Given the description of an element on the screen output the (x, y) to click on. 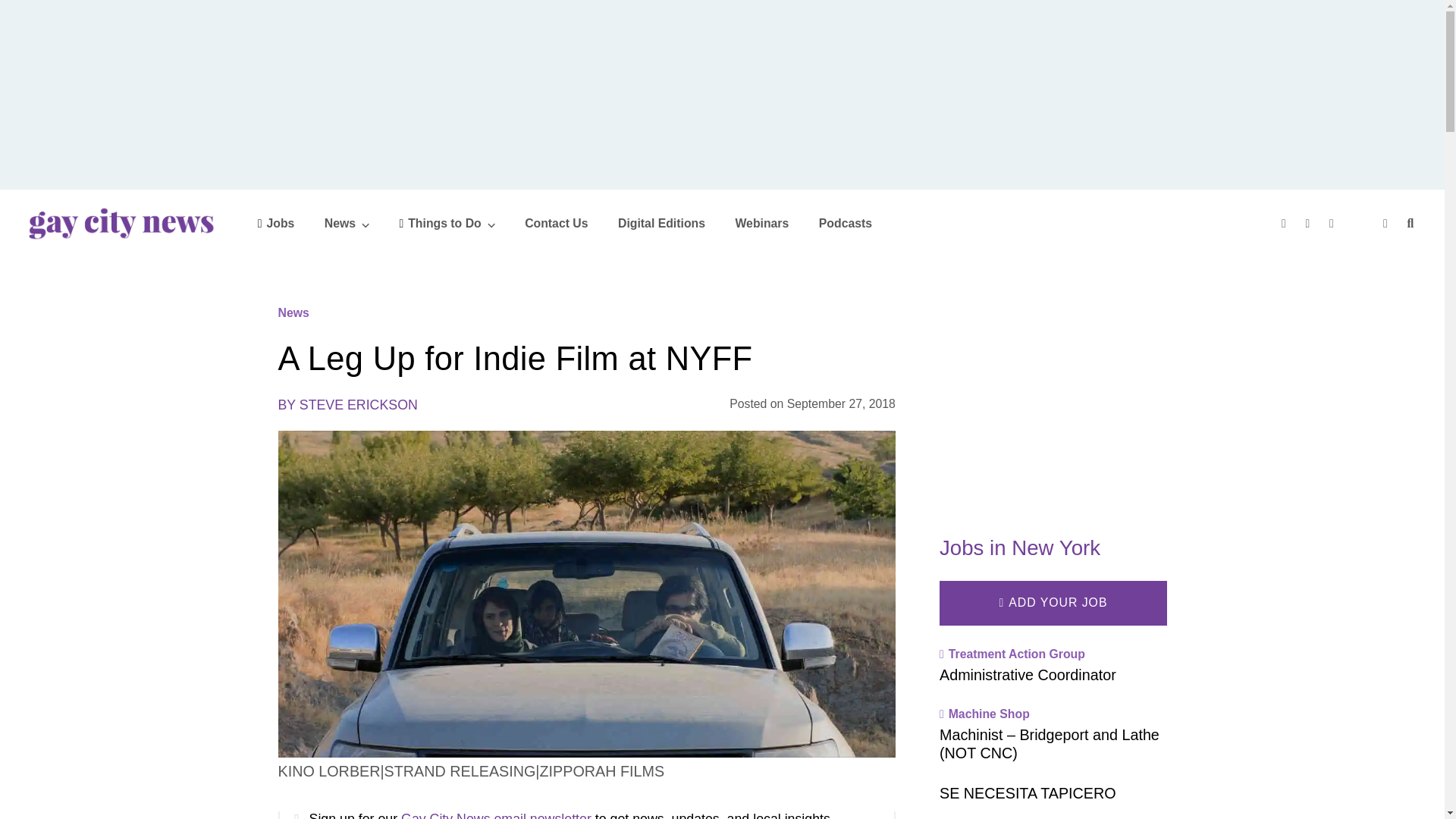
Podcasts (845, 223)
Contact Us (556, 223)
Webinars (762, 223)
Jobs (276, 223)
News (346, 223)
Digital Editions (660, 223)
Things to Do (446, 223)
